Given the description of an element on the screen output the (x, y) to click on. 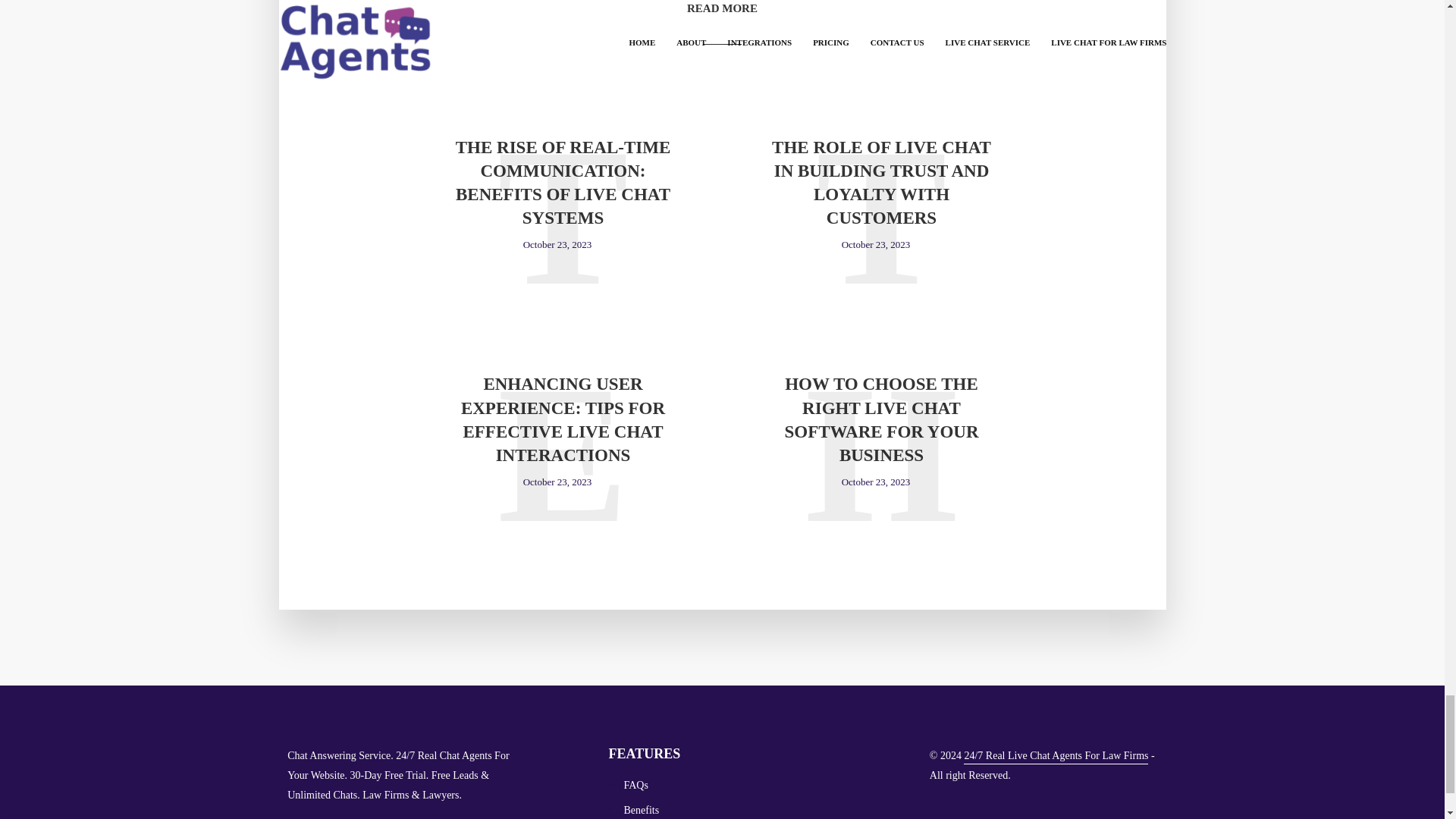
FAQs (635, 785)
Benefits (641, 809)
HOW TO CHOOSE THE RIGHT LIVE CHAT SOFTWARE FOR YOUR BUSINESS (880, 419)
